Given the description of an element on the screen output the (x, y) to click on. 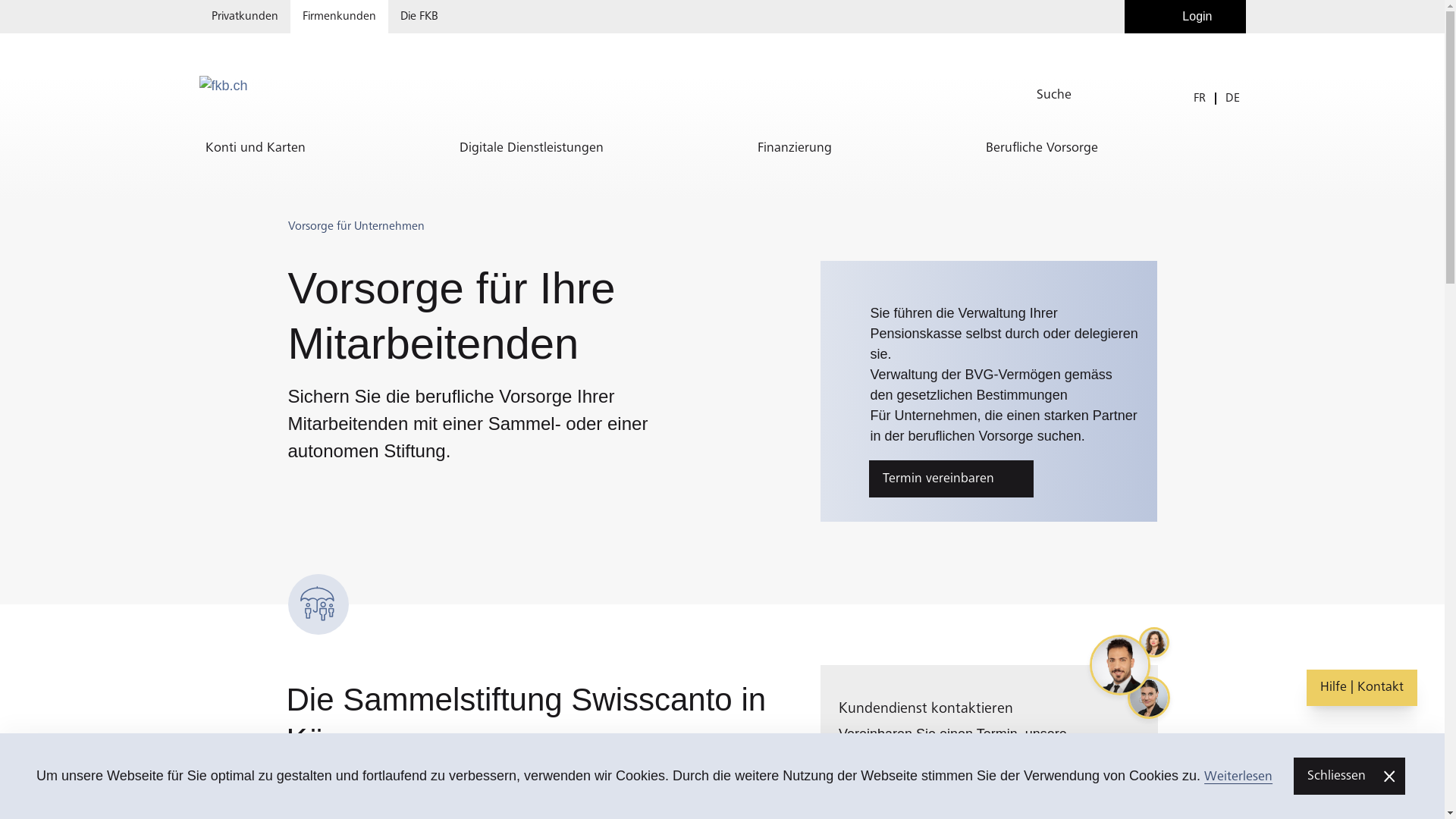
Firmenkunden Element type: text (338, 16)
DE Element type: text (1232, 97)
Weiterlesen Element type: text (1238, 776)
Schliessen Element type: text (1349, 775)
Finanzierung Element type: text (793, 148)
FR Element type: text (1199, 97)
Suche Element type: text (1113, 94)
Konti und Karten Element type: text (254, 148)
Termin vereinbaren Element type: text (951, 478)
Digitale Dienstleistungen Element type: text (531, 148)
Berufliche Vorsorge Element type: text (1041, 148)
Login Element type: text (1184, 16)
Hilfe | Kontakt Element type: text (1361, 687)
Die FKB Element type: text (419, 16)
0848 352 352 Element type: text (989, 790)
Privatkunden Element type: text (243, 16)
